Given the description of an element on the screen output the (x, y) to click on. 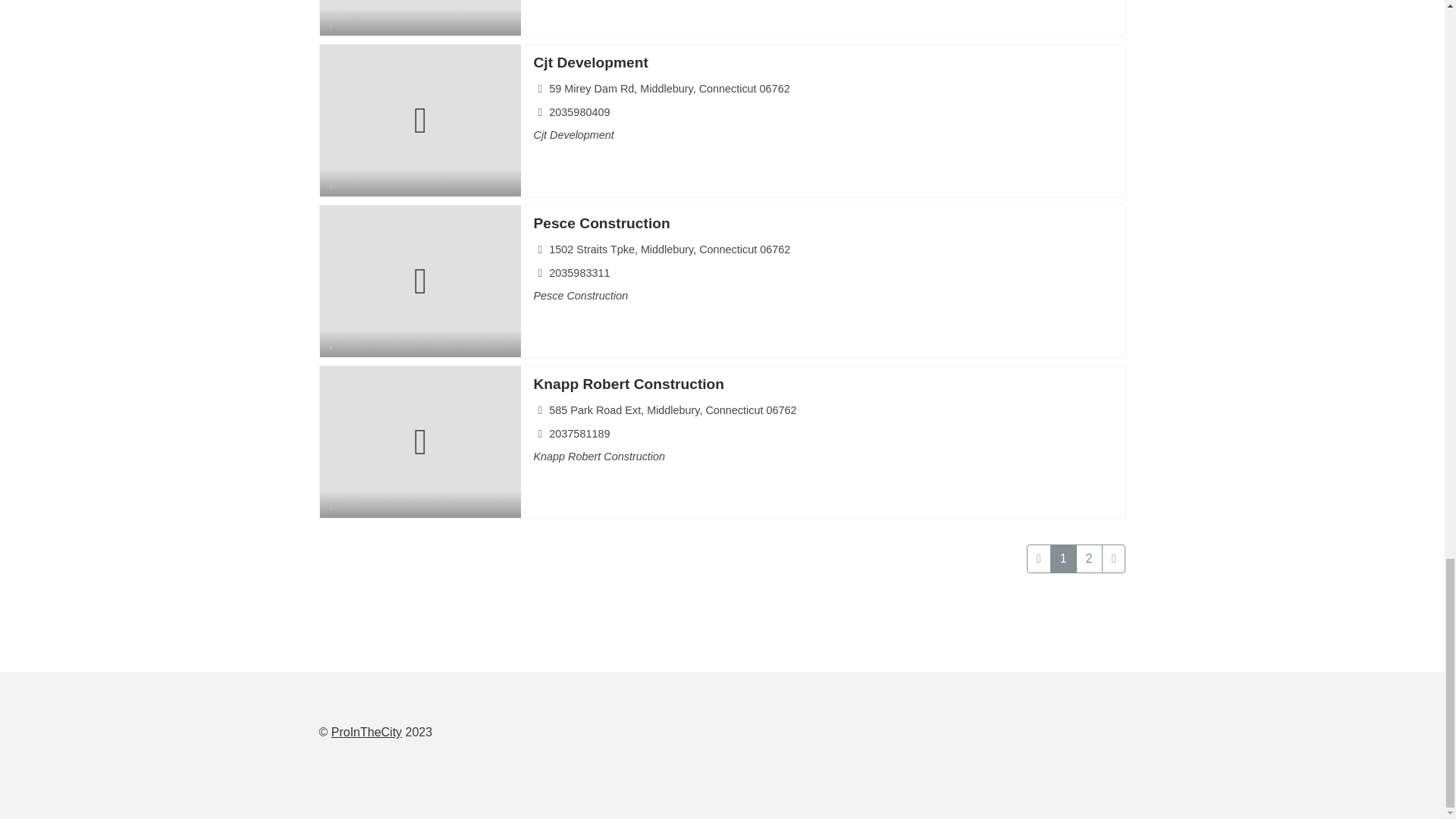
Cjt Development (589, 62)
